Given the description of an element on the screen output the (x, y) to click on. 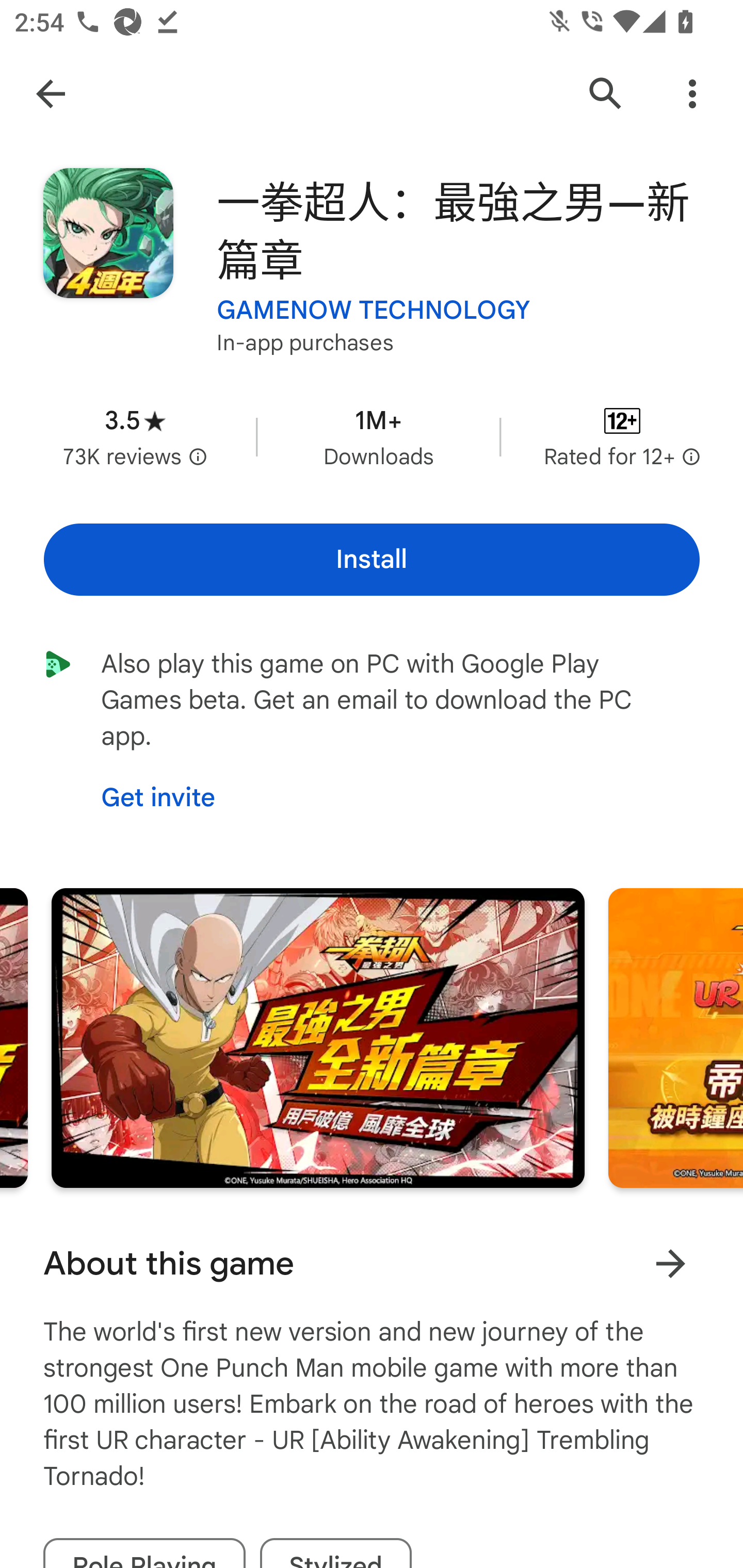
Navigate up (50, 93)
Search Google Play (605, 93)
More Options (692, 93)
GAMENOW TECHNOLOGY (373, 310)
Average rating 3.5 stars in 73 thousand reviews (135, 436)
Content rating Rated for 12+ (622, 436)
Install (371, 559)
Get invite (158, 798)
Screenshot "1" of "5" (317, 1037)
About this game Learn more About this game (371, 1263)
Learn more About this game (670, 1263)
